Given the description of an element on the screen output the (x, y) to click on. 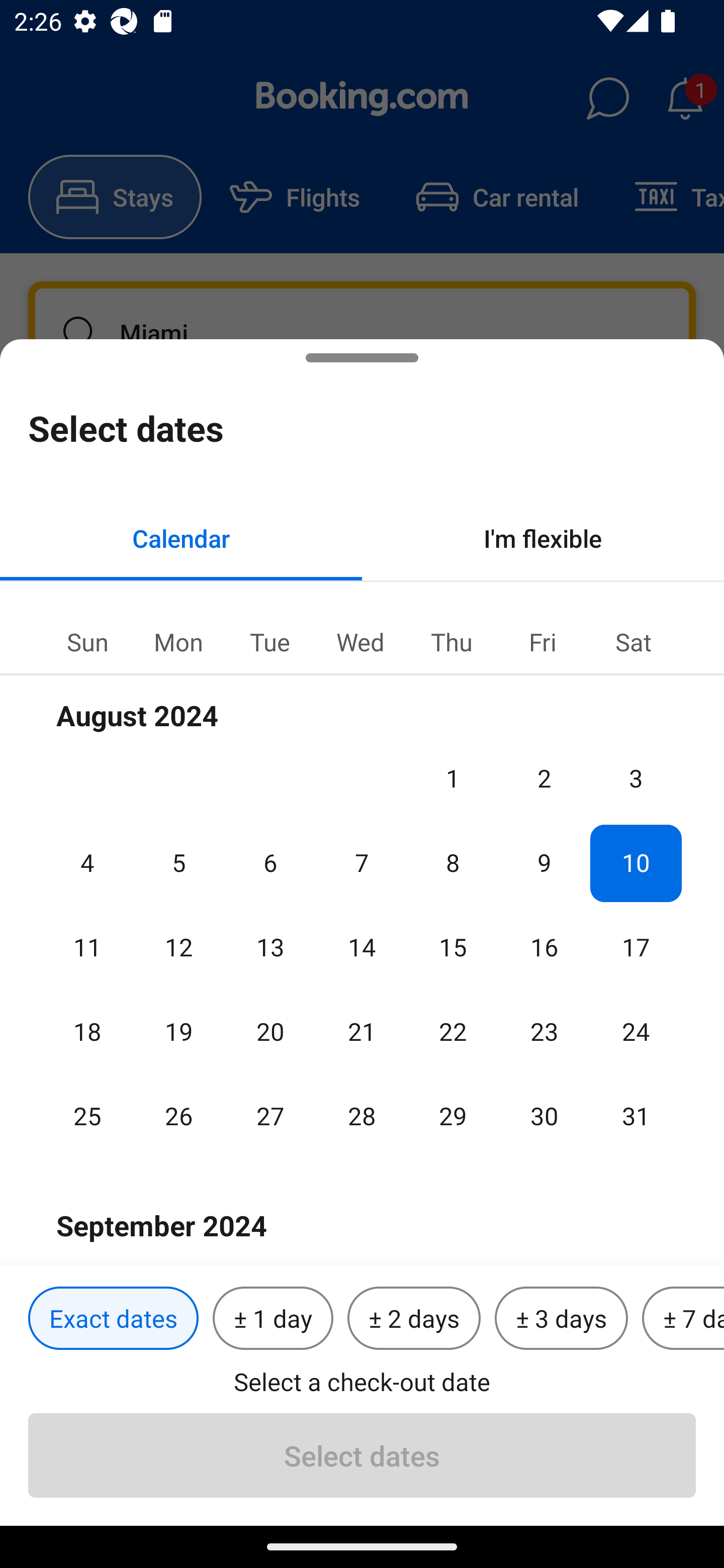
I'm flexible (543, 537)
Exact dates (113, 1318)
± 1 day (272, 1318)
± 2 days (413, 1318)
± 3 days (560, 1318)
± 7 days (683, 1318)
Select dates (361, 1454)
